Given the description of an element on the screen output the (x, y) to click on. 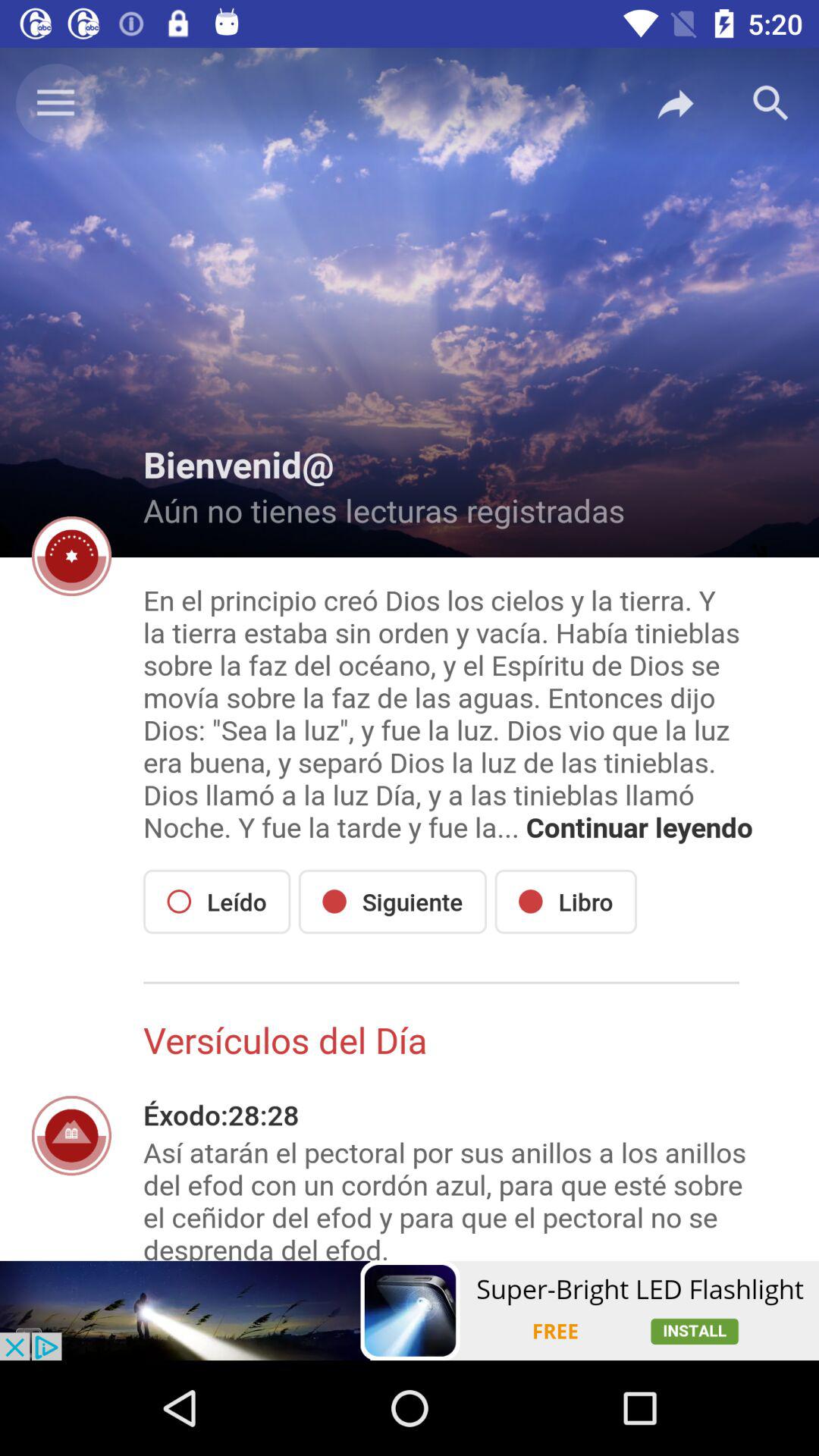
swipe until the libro icon (565, 901)
